Given the description of an element on the screen output the (x, y) to click on. 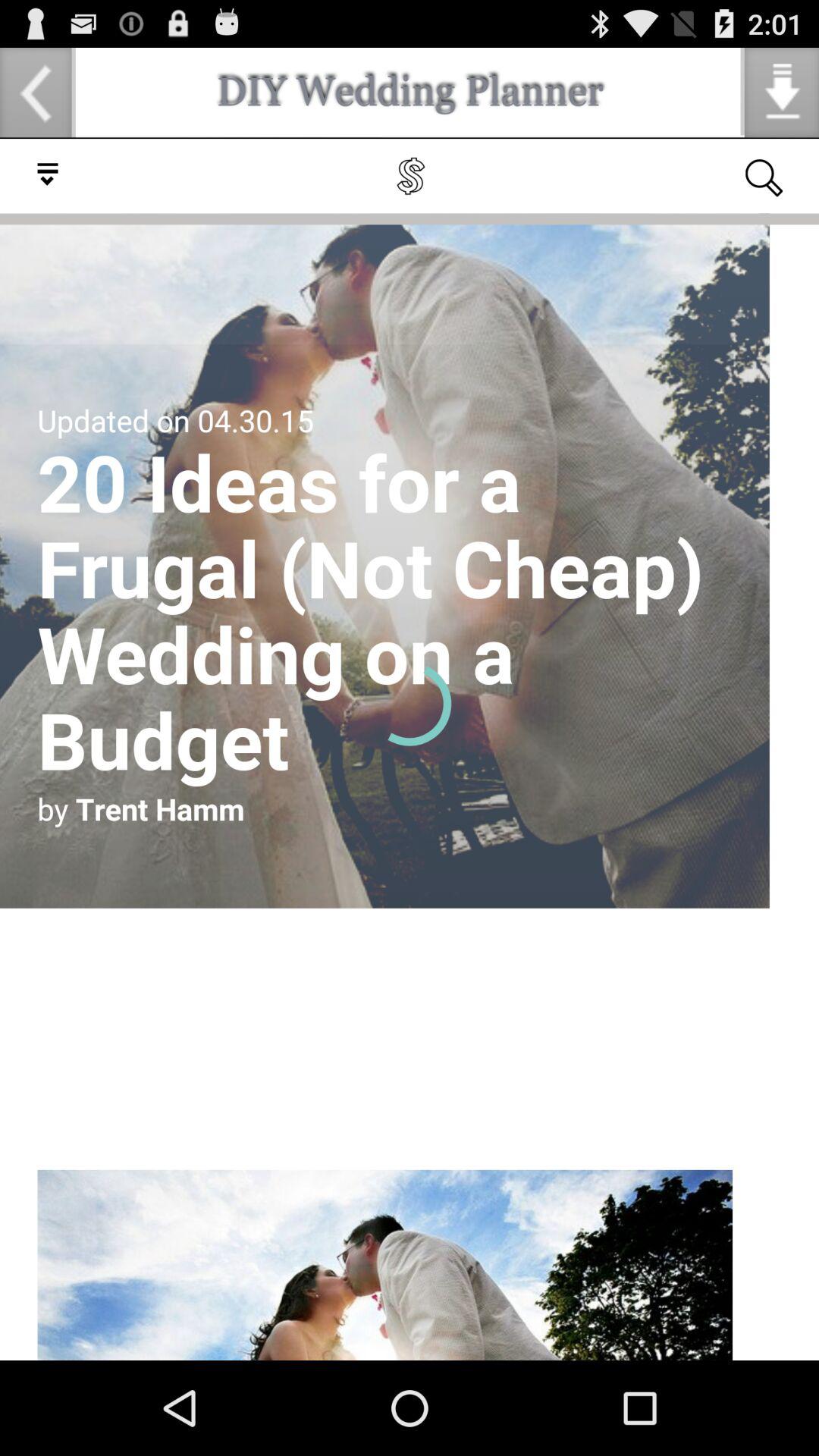
read the article (409, 749)
